Given the description of an element on the screen output the (x, y) to click on. 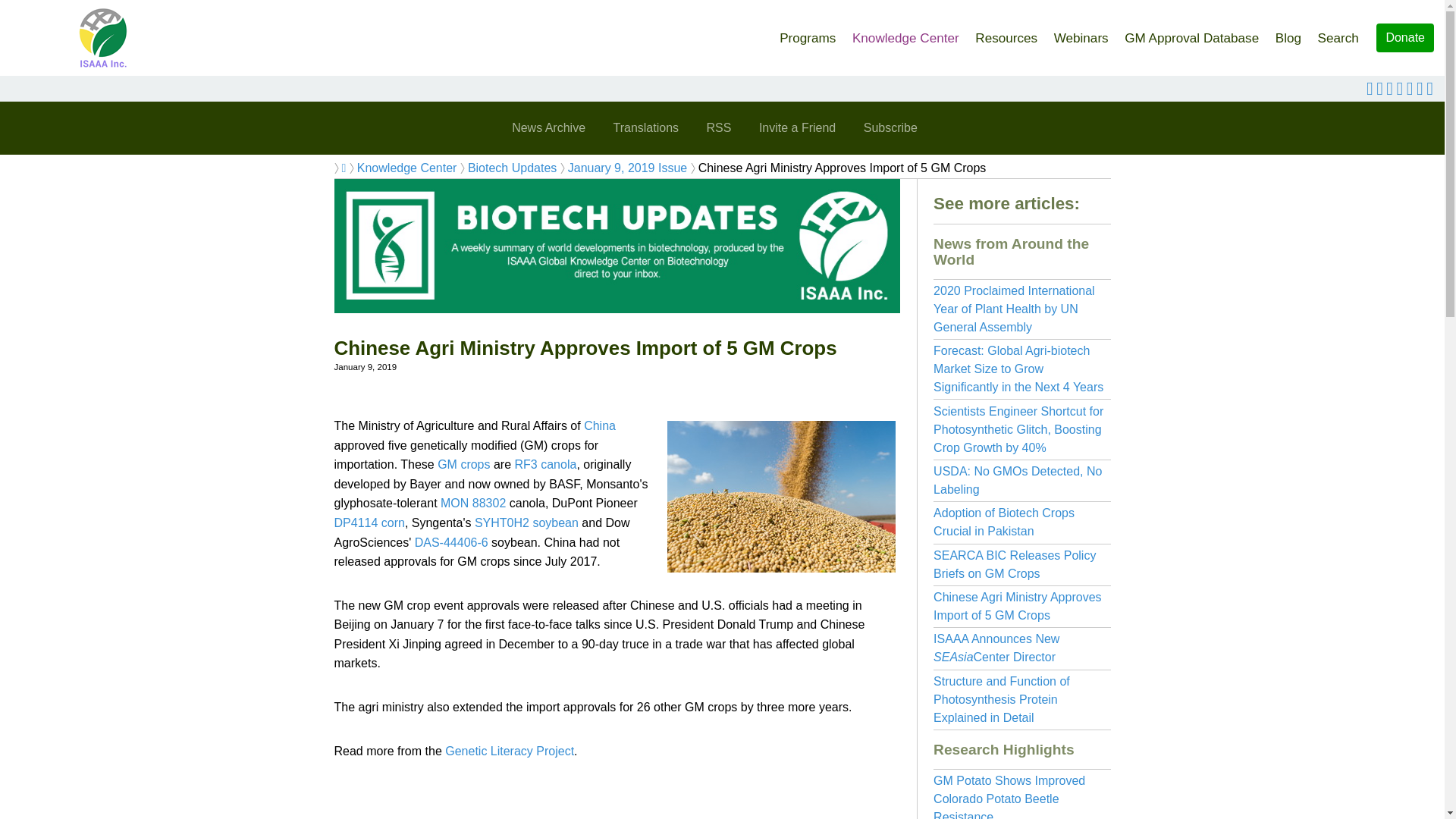
Knowledge Center (406, 167)
RSS (719, 127)
Webinars (1081, 32)
Translations (644, 127)
soybean (555, 522)
News Archive (547, 127)
RF3 (526, 463)
Subscribe (890, 127)
China (599, 425)
